Given the description of an element on the screen output the (x, y) to click on. 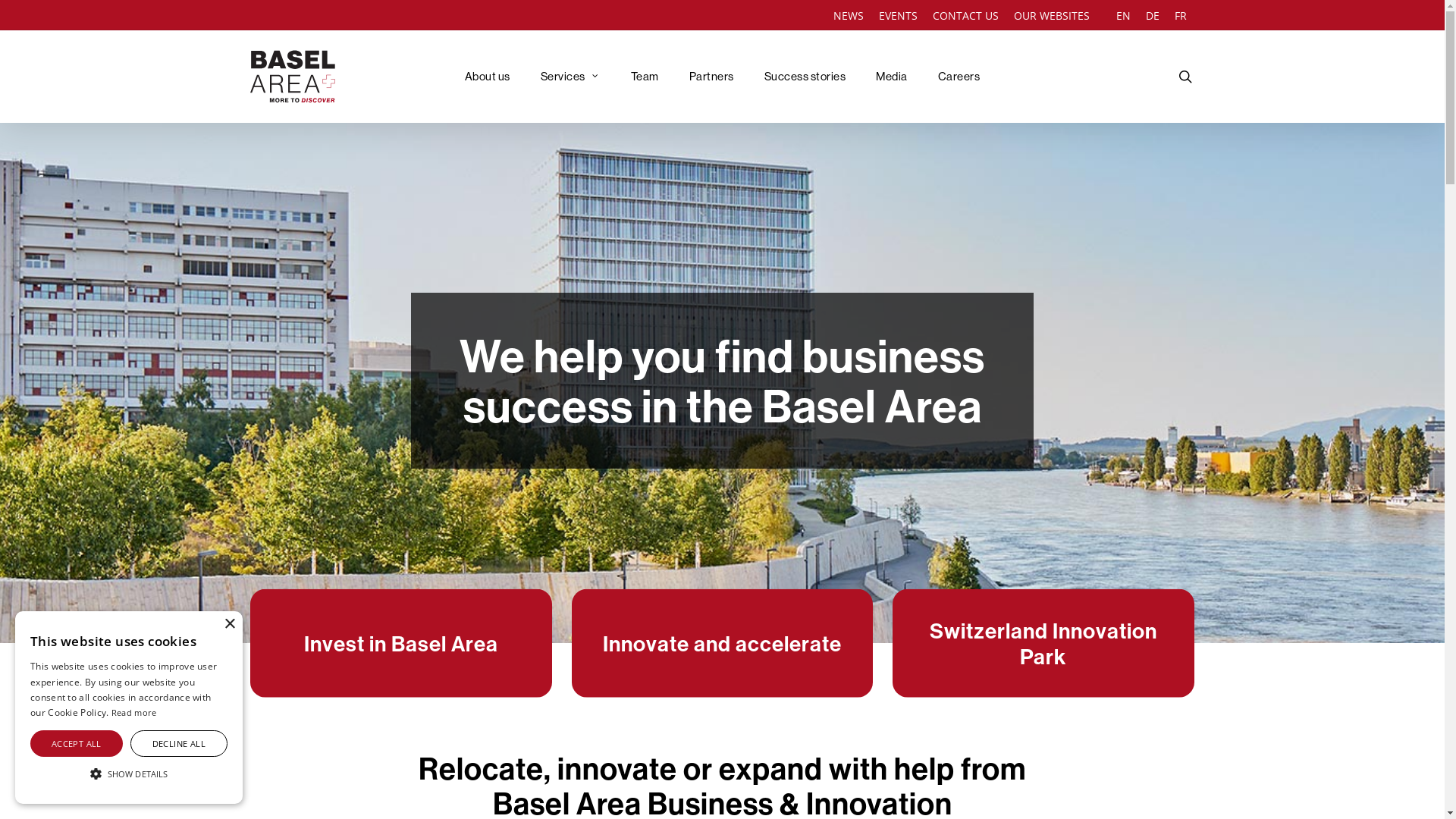
Read more Element type: text (133, 712)
NEWS Element type: text (848, 15)
EVENTS Element type: text (898, 15)
Invest in Basel Area Element type: text (401, 642)
About us Element type: text (487, 76)
FR Element type: text (1180, 15)
Switzerland Innovation Park Element type: text (1043, 642)
search Element type: text (1185, 76)
Media Element type: text (891, 76)
Success stories Element type: text (805, 76)
Team Element type: text (644, 76)
DE Element type: text (1152, 15)
Partners Element type: text (711, 76)
OUR WEBSITES Element type: text (1057, 15)
EN Element type: text (1123, 15)
Innovate and accelerate Element type: text (721, 642)
CONTACT US Element type: text (965, 15)
Services Element type: text (570, 76)
Careers Element type: text (959, 76)
